Given the description of an element on the screen output the (x, y) to click on. 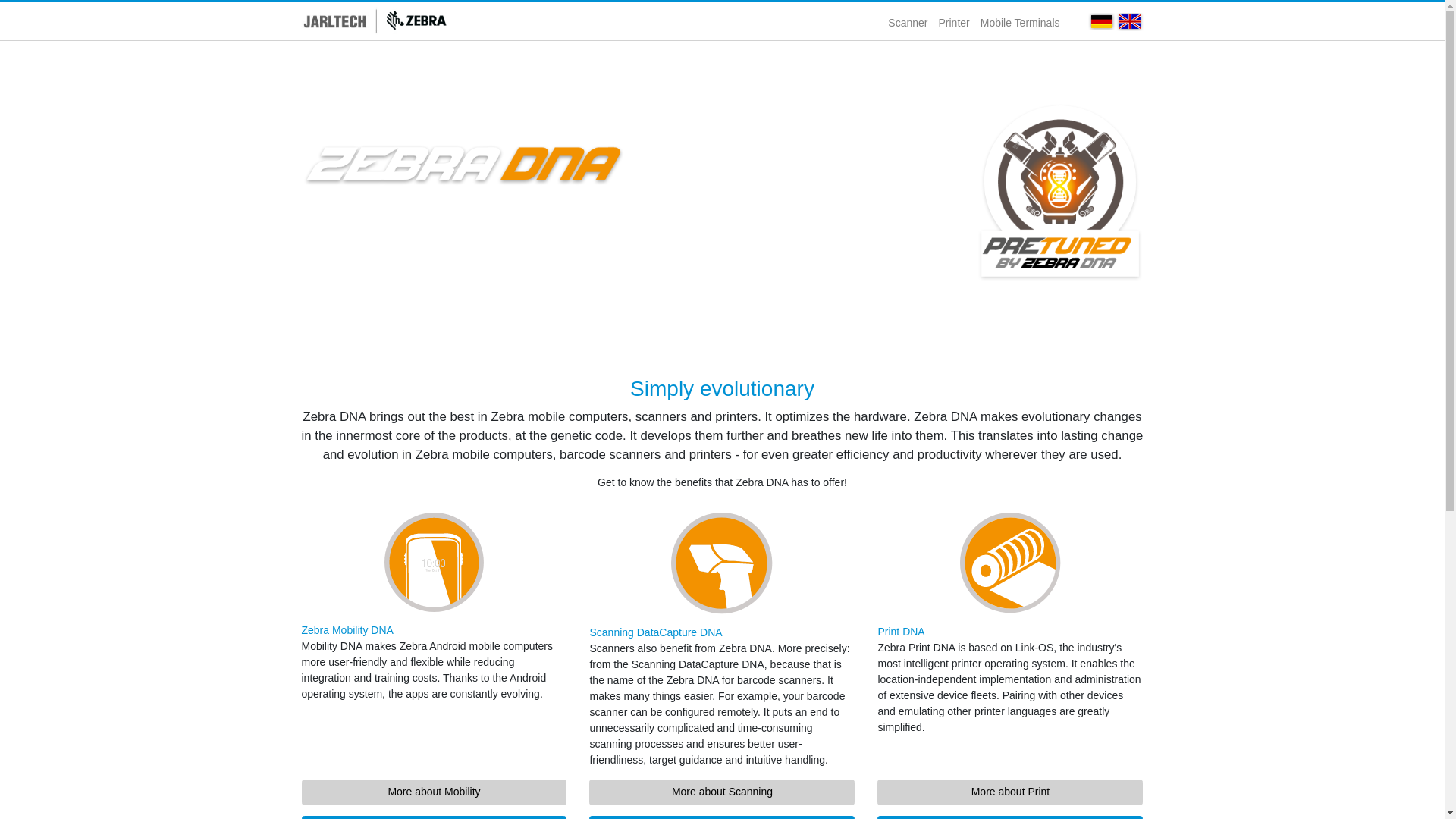
Printer (953, 22)
More about Mobility (434, 792)
Mobile Terminals (1020, 22)
More about Print (1009, 792)
Print DNA products (1009, 817)
Mobility DNA products (434, 817)
Scanning DNA products (721, 817)
Scanner (907, 22)
More about Scanning (721, 792)
